Given the description of an element on the screen output the (x, y) to click on. 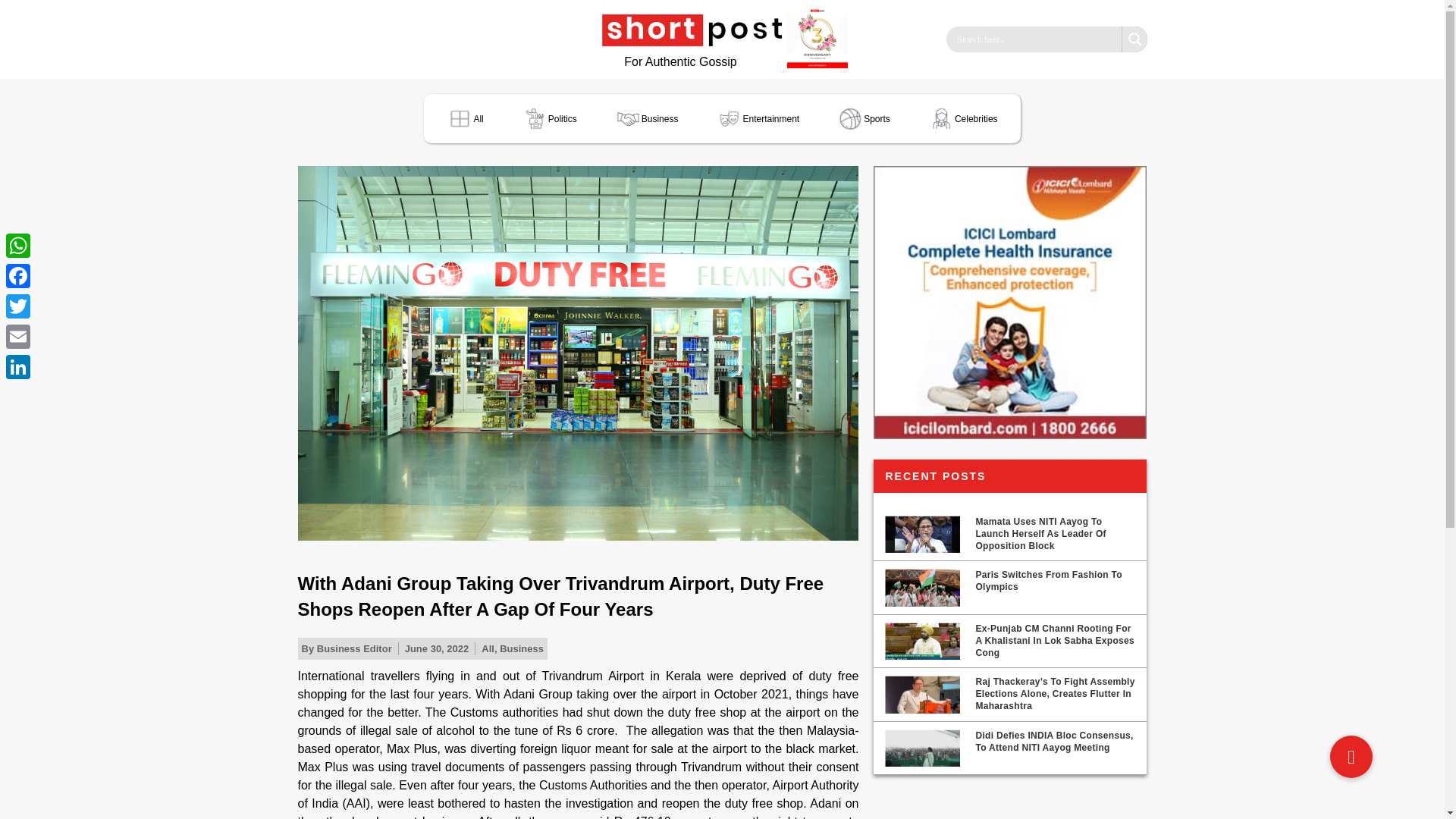
Entertainment (756, 118)
All (488, 648)
Facebook (17, 276)
WhatsApp (17, 245)
By Business Editor (346, 648)
All (463, 118)
Celebrities (962, 118)
Email (17, 336)
Twitter (17, 306)
June 30, 2022 (436, 648)
Sports (863, 118)
LinkedIn (17, 367)
Business (646, 118)
Business (521, 648)
